Given the description of an element on the screen output the (x, y) to click on. 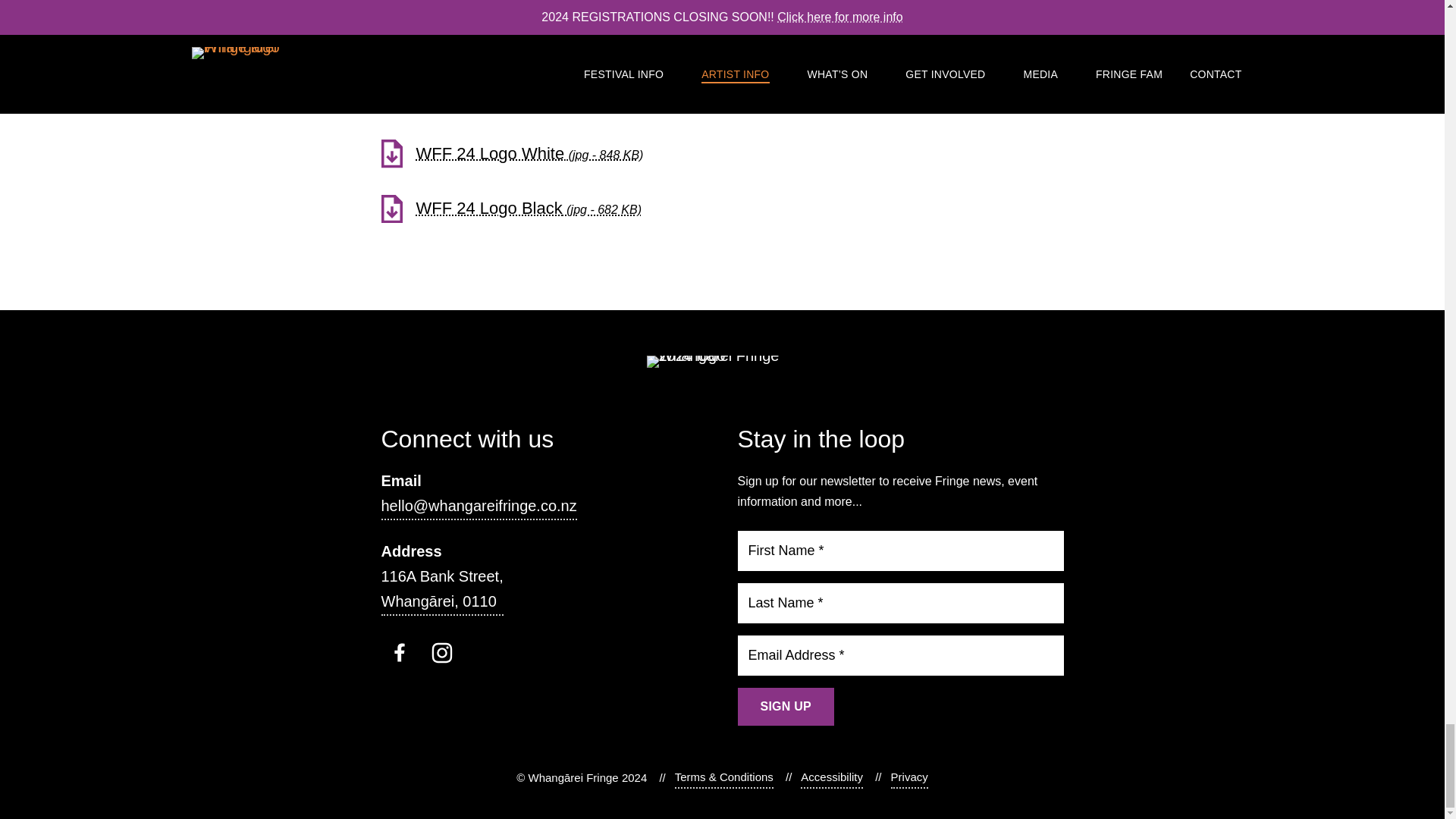
Sign up (785, 706)
